Given the description of an element on the screen output the (x, y) to click on. 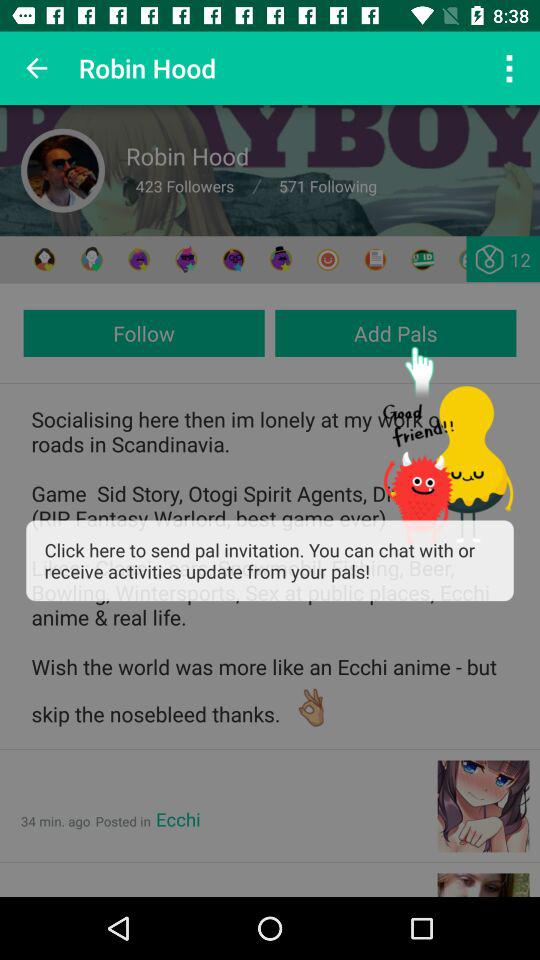
go to profile (63, 170)
